Given the description of an element on the screen output the (x, y) to click on. 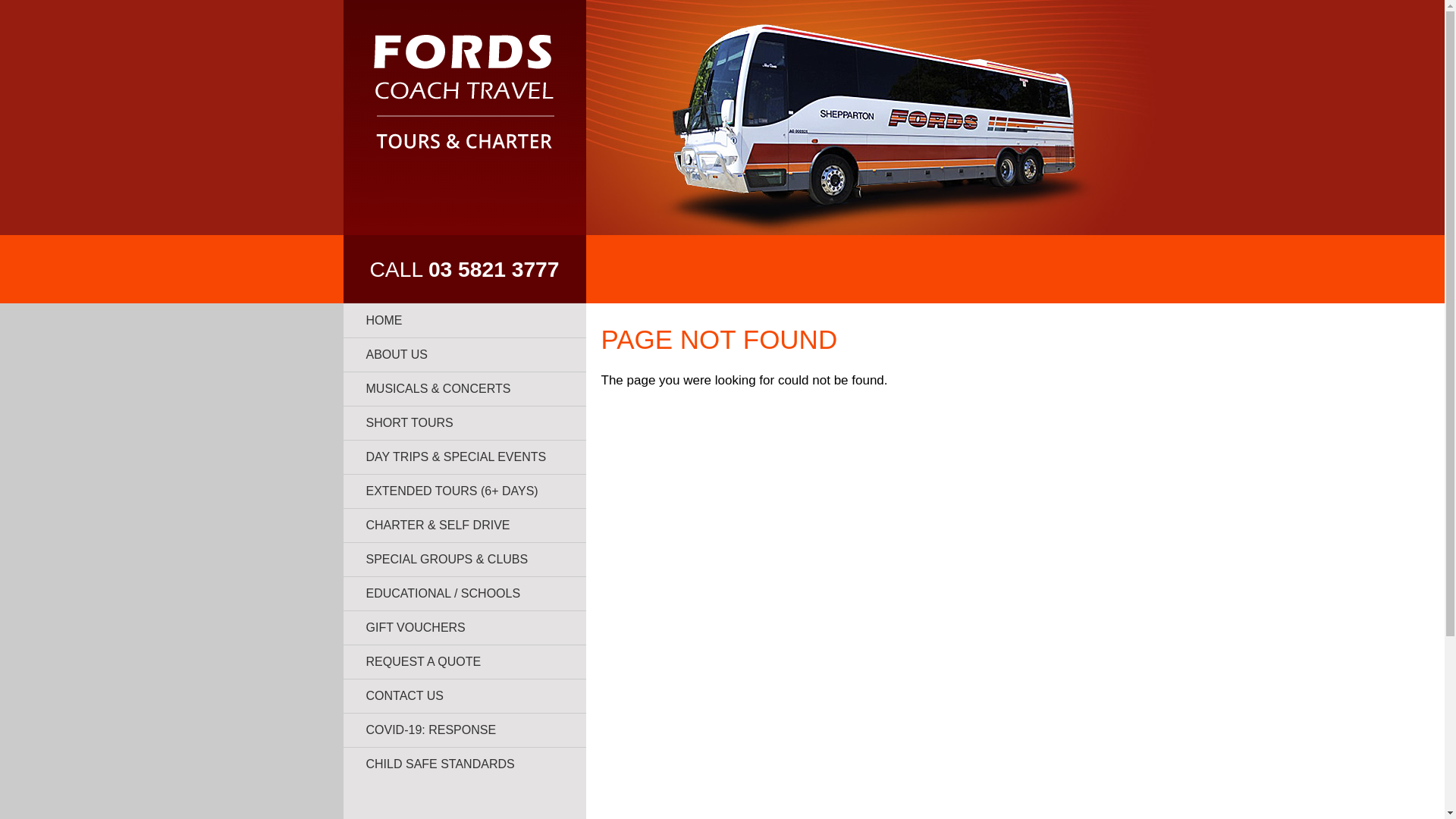
CHILD SAFE STANDARDS Element type: text (463, 763)
CONTACT US Element type: text (463, 695)
EXTENDED TOURS (6+ DAYS) Element type: text (463, 490)
EDUCATIONAL / SCHOOLS Element type: text (463, 593)
COVID-19: RESPONSE Element type: text (463, 729)
ABOUT US Element type: text (463, 354)
SHORT TOURS Element type: text (463, 422)
HOME Element type: text (463, 320)
DAY TRIPS & SPECIAL EVENTS Element type: text (463, 456)
MUSICALS & CONCERTS Element type: text (463, 388)
CHARTER & SELF DRIVE Element type: text (463, 525)
SPECIAL GROUPS & CLUBS Element type: text (463, 559)
GIFT VOUCHERS Element type: text (463, 627)
REQUEST A QUOTE Element type: text (463, 661)
